Given the description of an element on the screen output the (x, y) to click on. 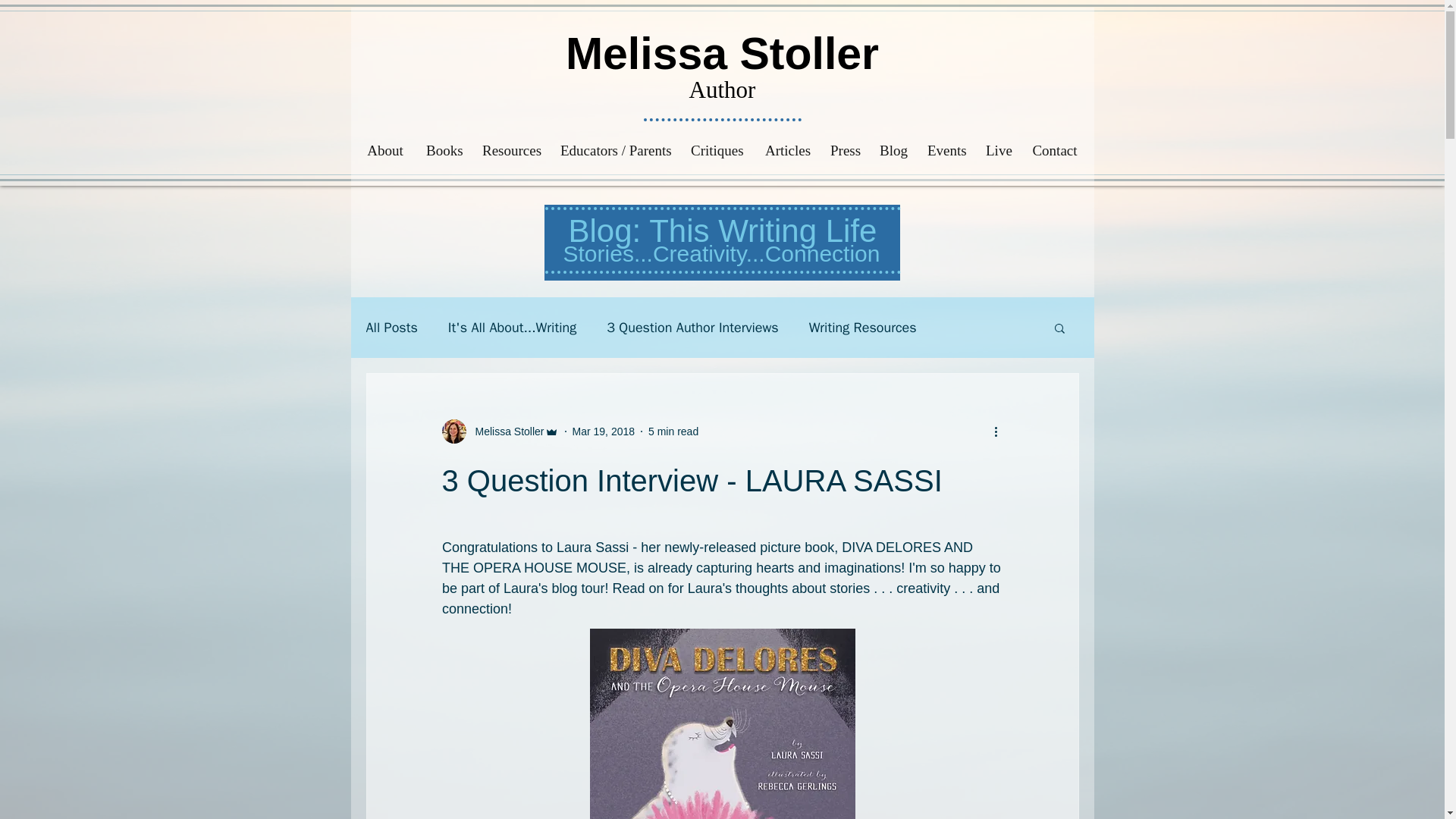
All Posts (390, 327)
Press (842, 150)
It's All About...Writing (512, 327)
Melissa Stoller (722, 53)
Books (442, 150)
Live (997, 150)
Articles (786, 150)
Events (944, 150)
Contact (1054, 150)
Author (721, 89)
About (384, 150)
5 min read (672, 430)
Mar 19, 2018 (603, 430)
Resources (509, 150)
3 Question Author Interviews (692, 327)
